Given the description of an element on the screen output the (x, y) to click on. 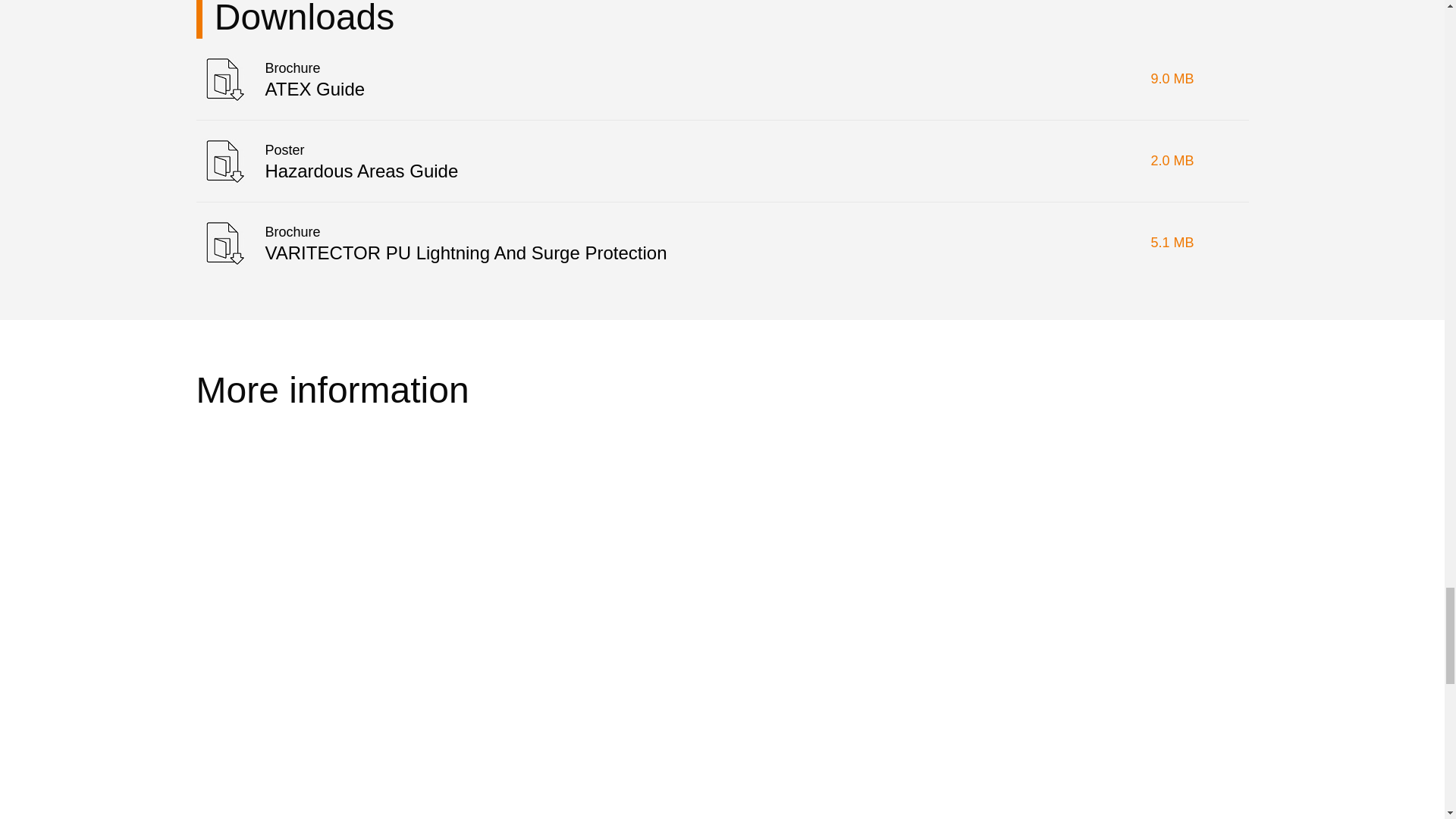
Hazardous Areas Guide (721, 160)
ATEX Guide (721, 78)
VARITECTOR PU Lightning And Surge Protection (721, 242)
